Given the description of an element on the screen output the (x, y) to click on. 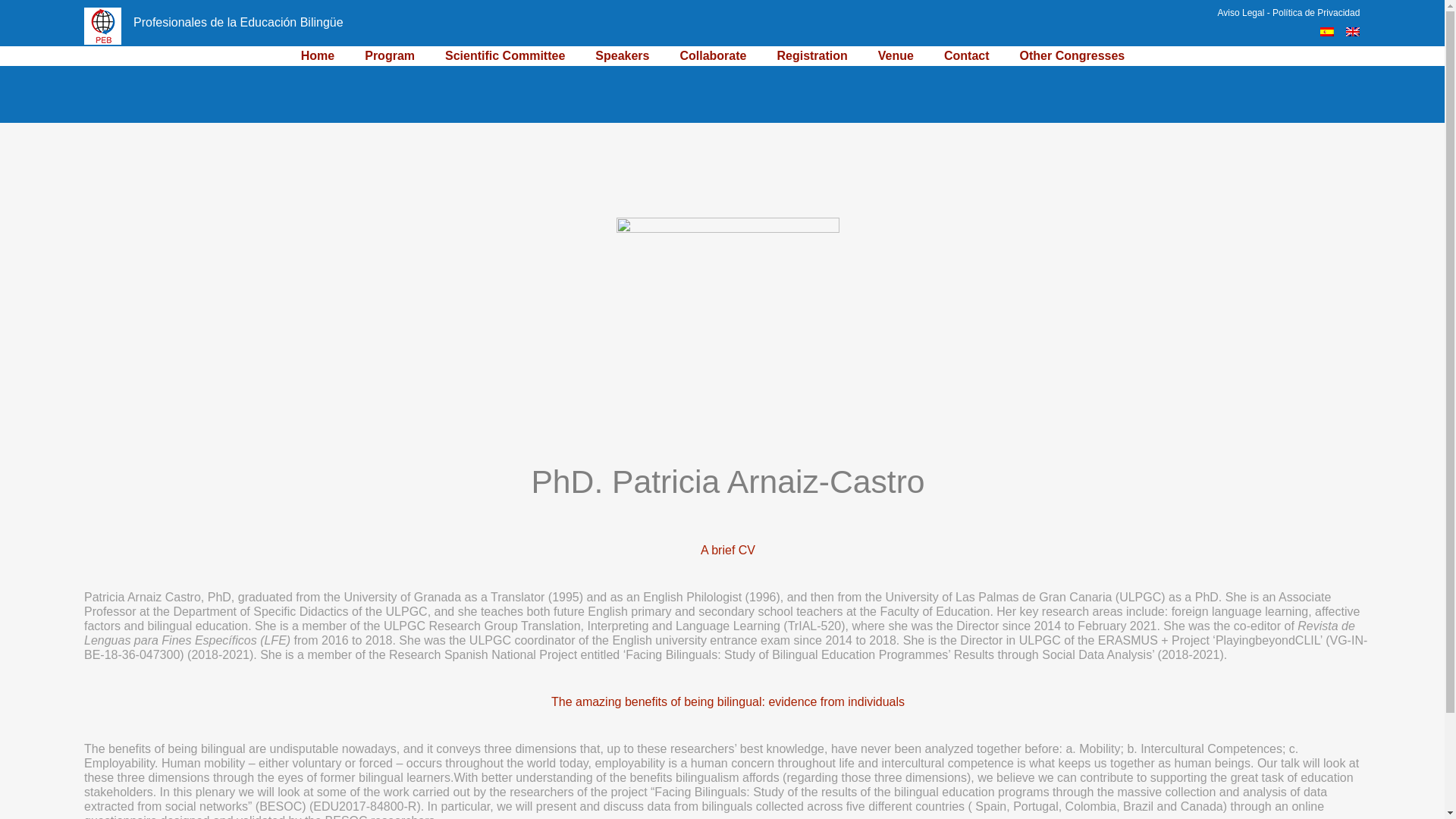
Other Congresses (1072, 55)
Collaborate (712, 55)
Registration (811, 55)
Scientific Committee (504, 55)
Aviso Legal (1241, 12)
Home (317, 55)
Speakers (622, 55)
Contact (966, 55)
Program (389, 55)
